Given the description of an element on the screen output the (x, y) to click on. 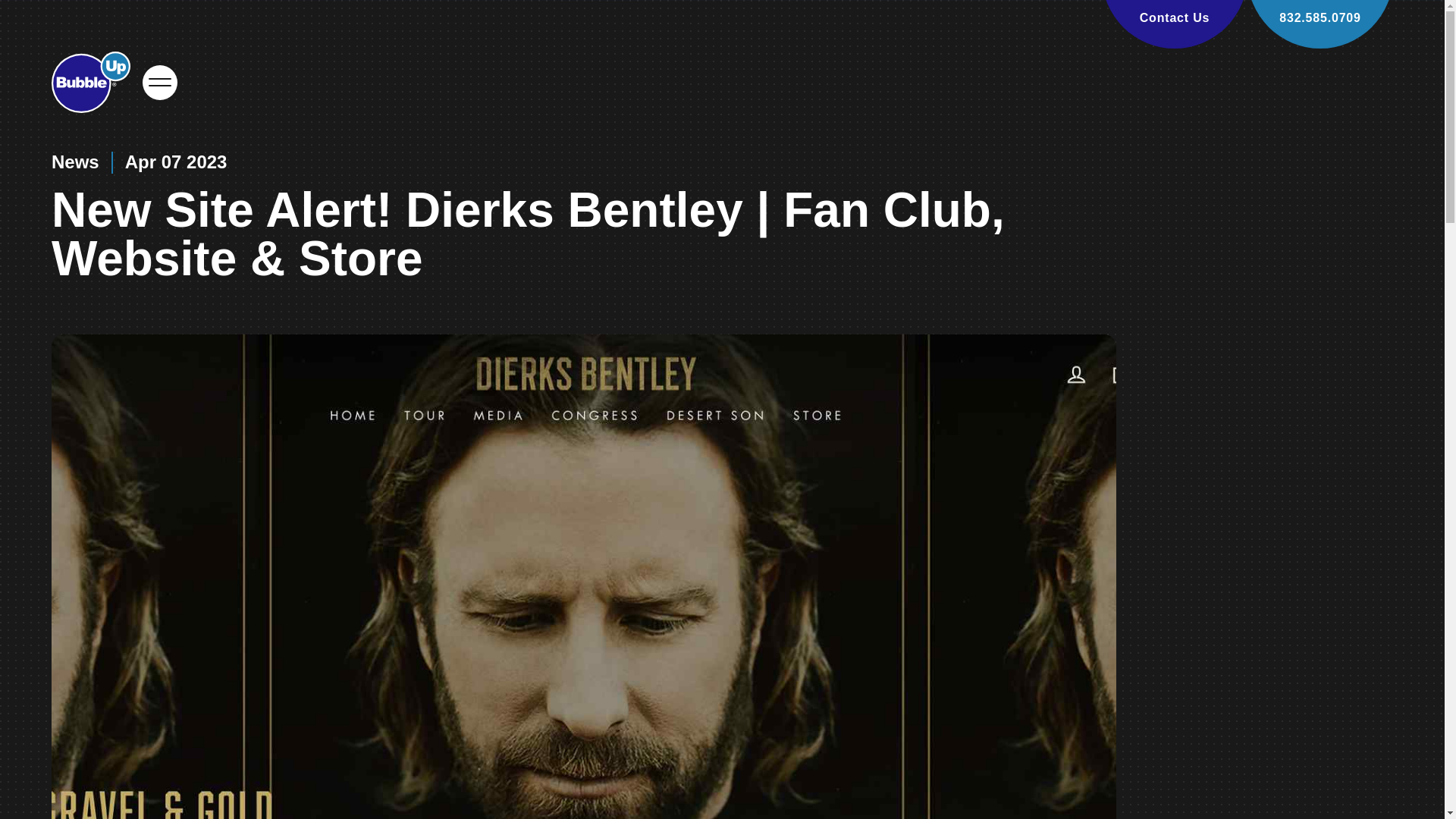
News (74, 162)
832.585.0709 (1320, 24)
Contact Us (1174, 24)
